Given the description of an element on the screen output the (x, y) to click on. 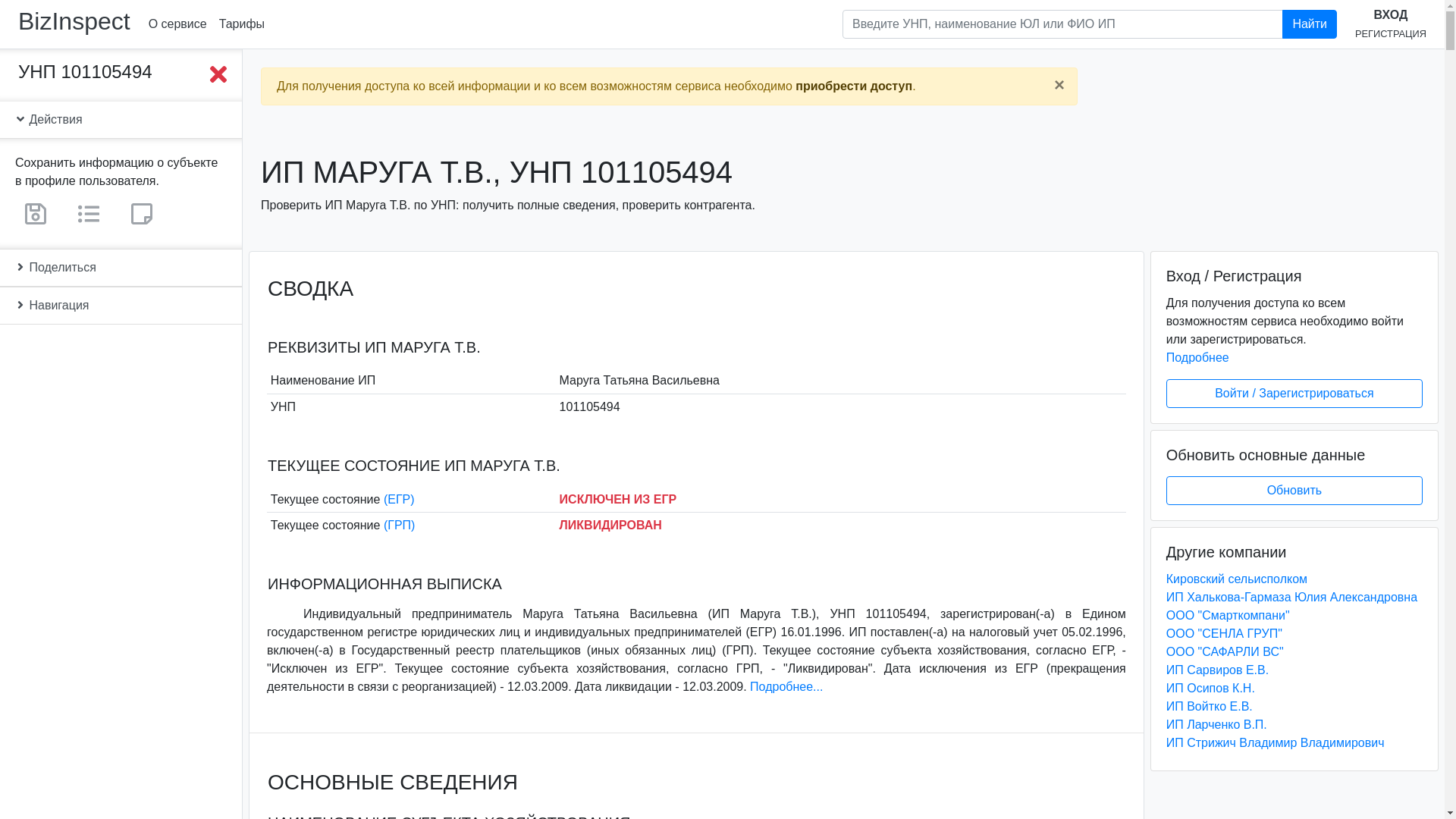
BizInspect Element type: text (74, 20)
